Given the description of an element on the screen output the (x, y) to click on. 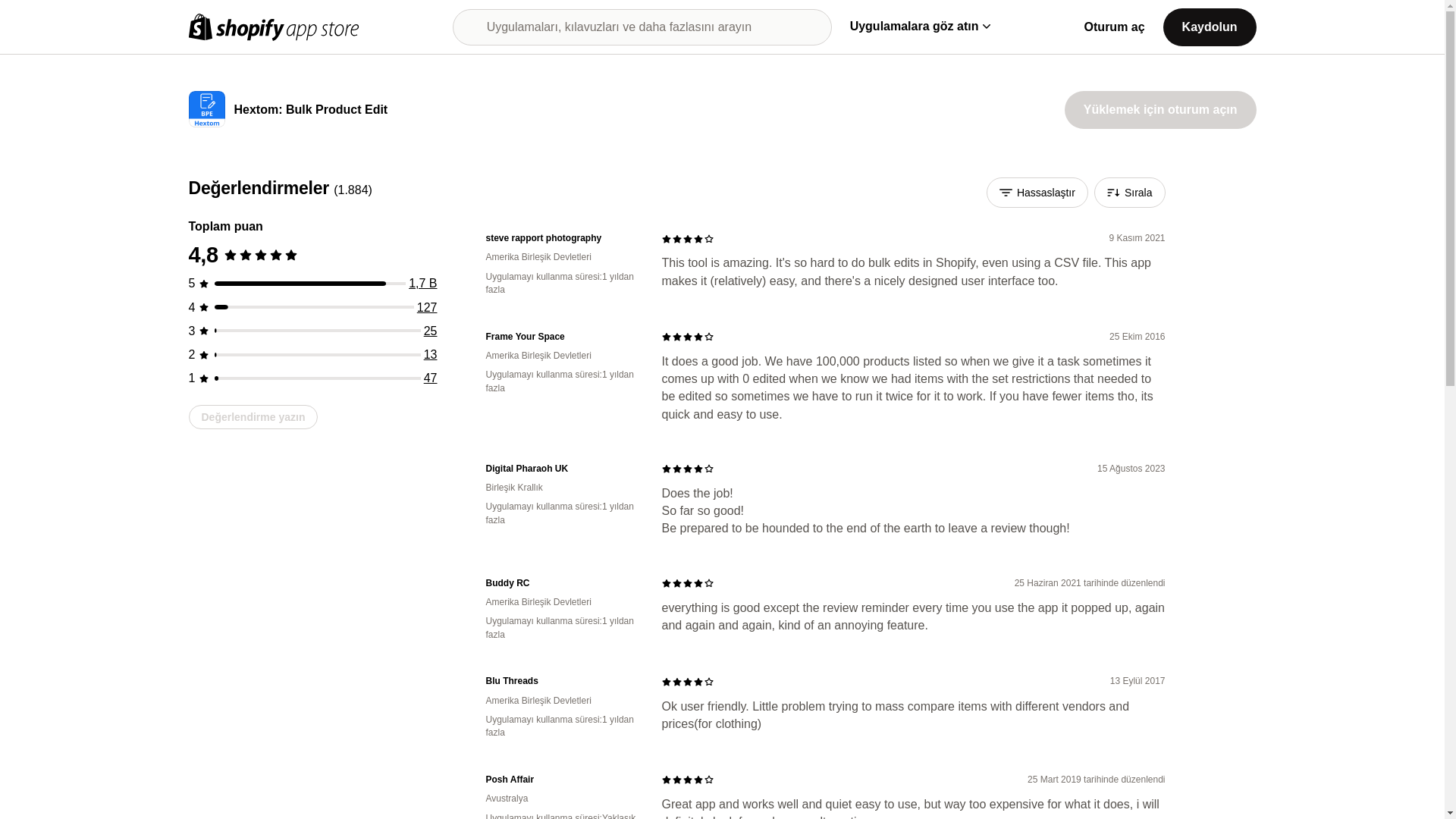
13 (430, 354)
47 (430, 377)
Hextom: Bulk Product Edit (309, 110)
Blu Threads (560, 680)
steve rapport photography (560, 237)
Kaydolun (1209, 26)
25 (430, 330)
Frame Your Space (560, 336)
Posh Affair (560, 779)
Buddy RC (560, 583)
